Given the description of an element on the screen output the (x, y) to click on. 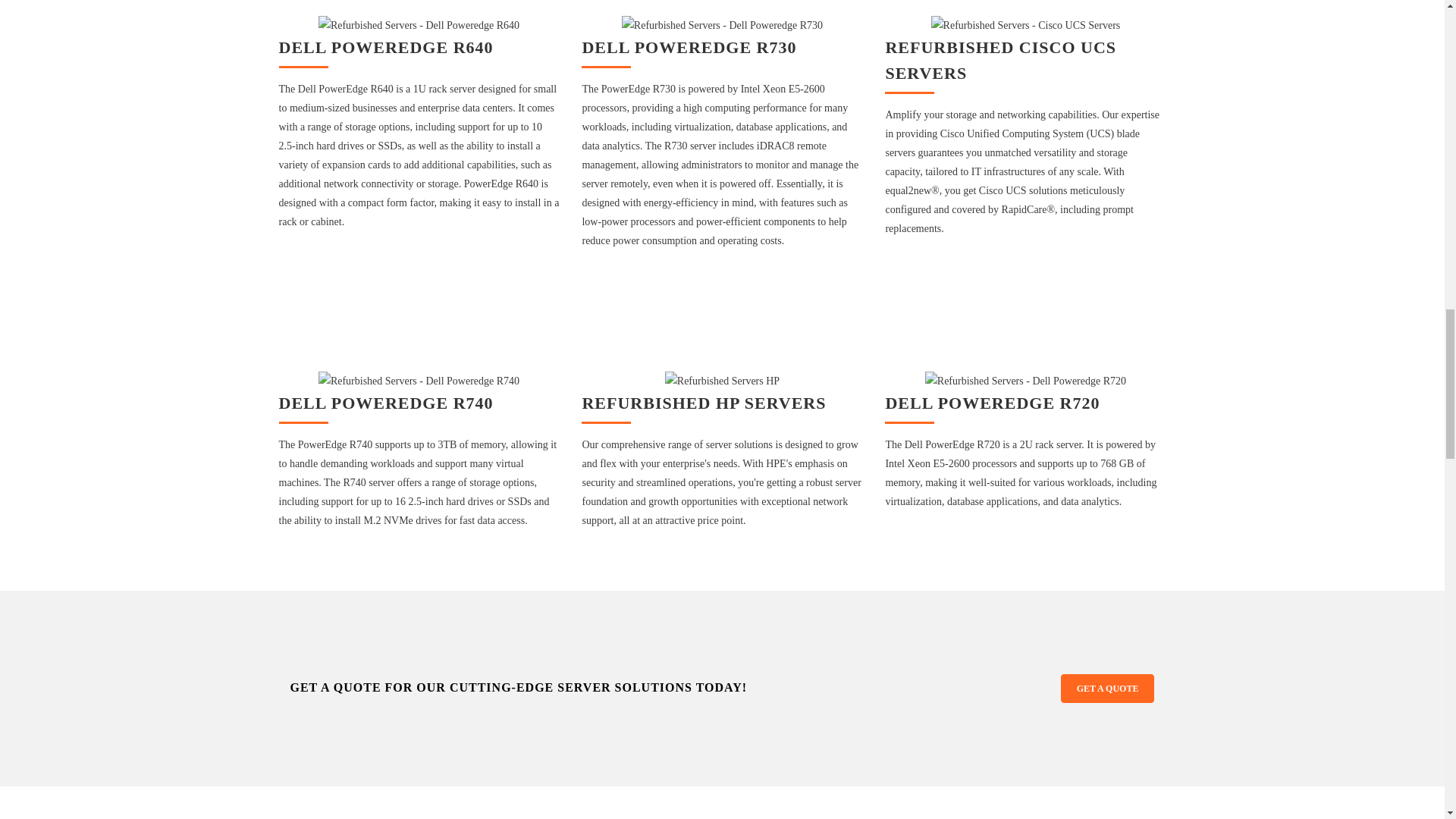
Refurbished Servers - Dell Poweredge R720 (1024, 380)
Refurbished Servers - Dell Poweredge R640 (418, 25)
Refurbished Servers - Dell Poweredge R740 (418, 380)
Refurbished Servers - Dell Poweredge R730 (721, 25)
Refurbished Servers - Cisco UCS Servers (1026, 25)
Refurbished Servers HP (721, 380)
